Given the description of an element on the screen output the (x, y) to click on. 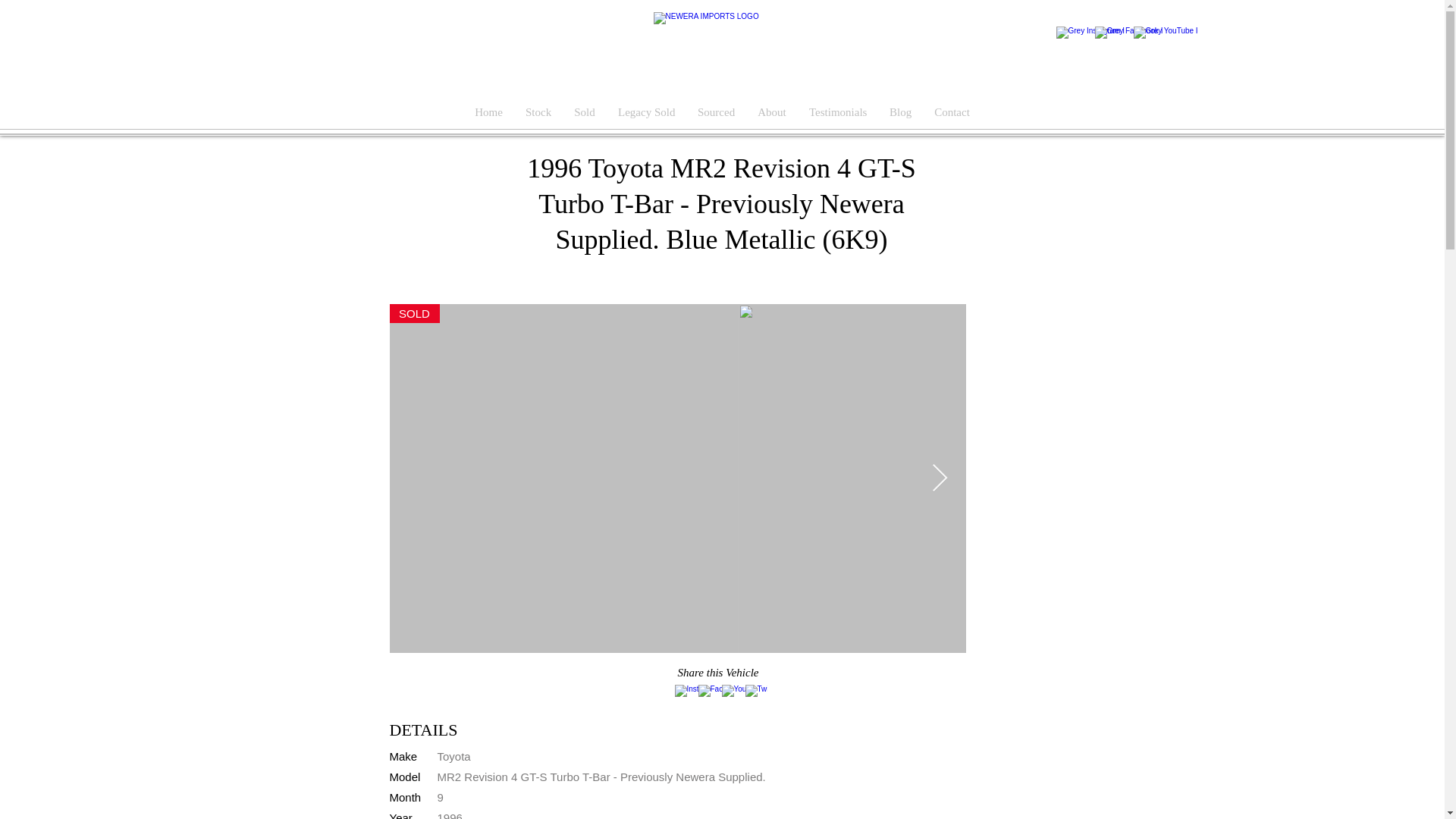
Month (406, 797)
Testimonials (837, 111)
Sourced (715, 111)
Year (401, 815)
Sold (584, 111)
Home (488, 111)
Stock (537, 111)
Make (403, 756)
Blog (900, 111)
About (771, 111)
